Given the description of an element on the screen output the (x, y) to click on. 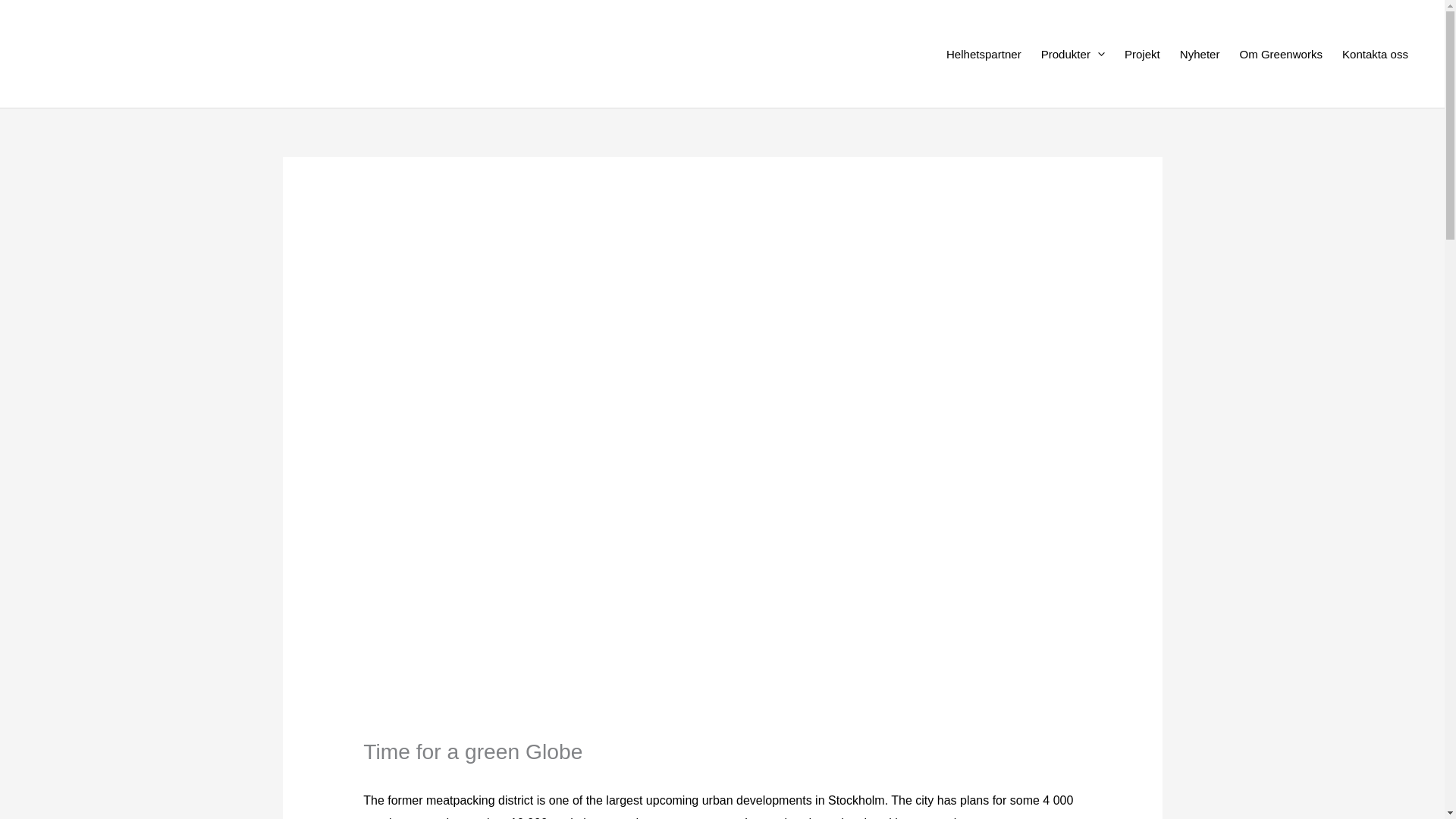
Produkter (1072, 53)
Helhetspartner (983, 53)
Projekt (1142, 53)
Om Greenworks (1280, 53)
Kontakta oss (1375, 53)
Nyheter (1200, 53)
